Given the description of an element on the screen output the (x, y) to click on. 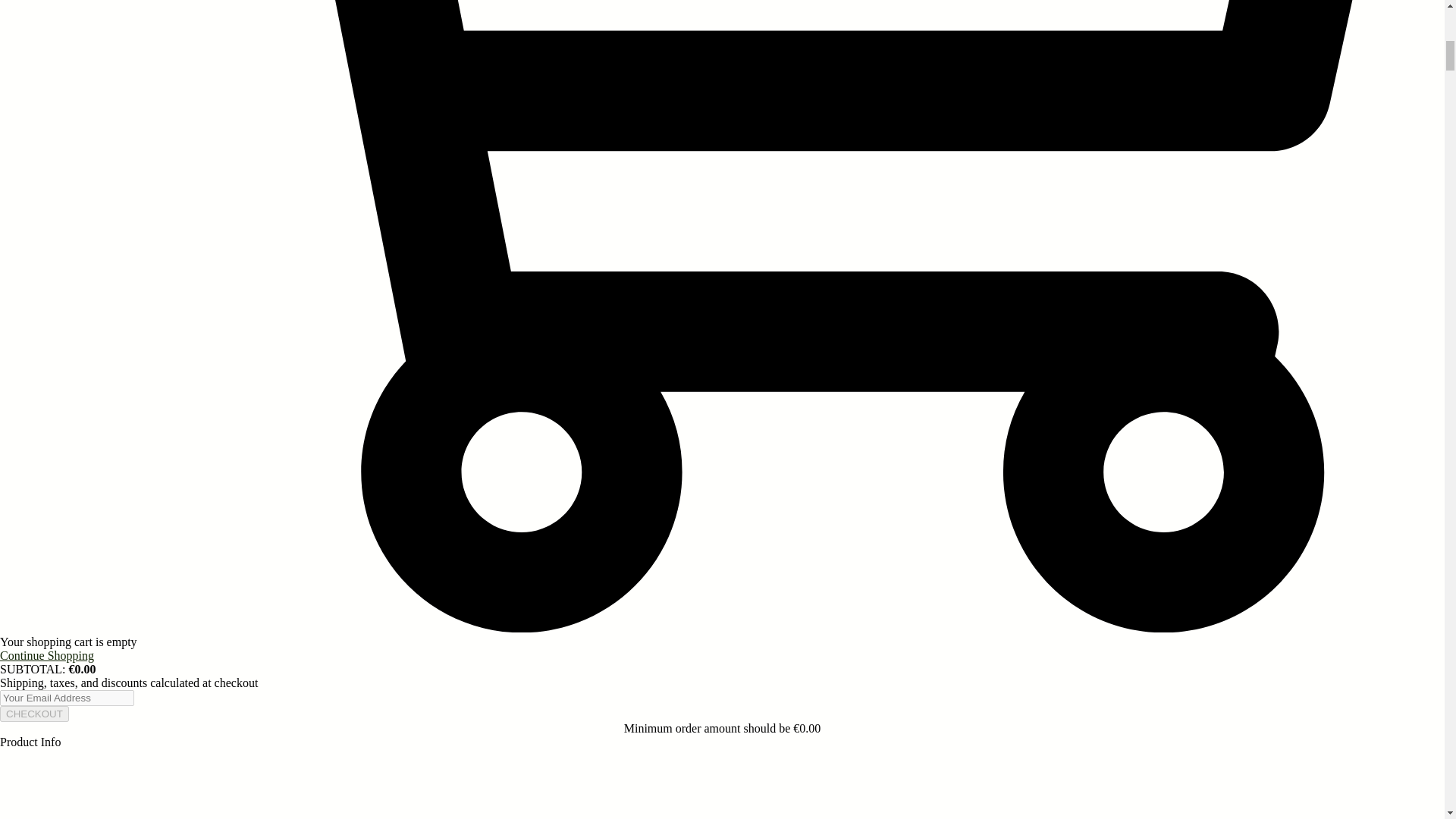
Continue Shopping (47, 655)
CHECKOUT (34, 713)
